Given the description of an element on the screen output the (x, y) to click on. 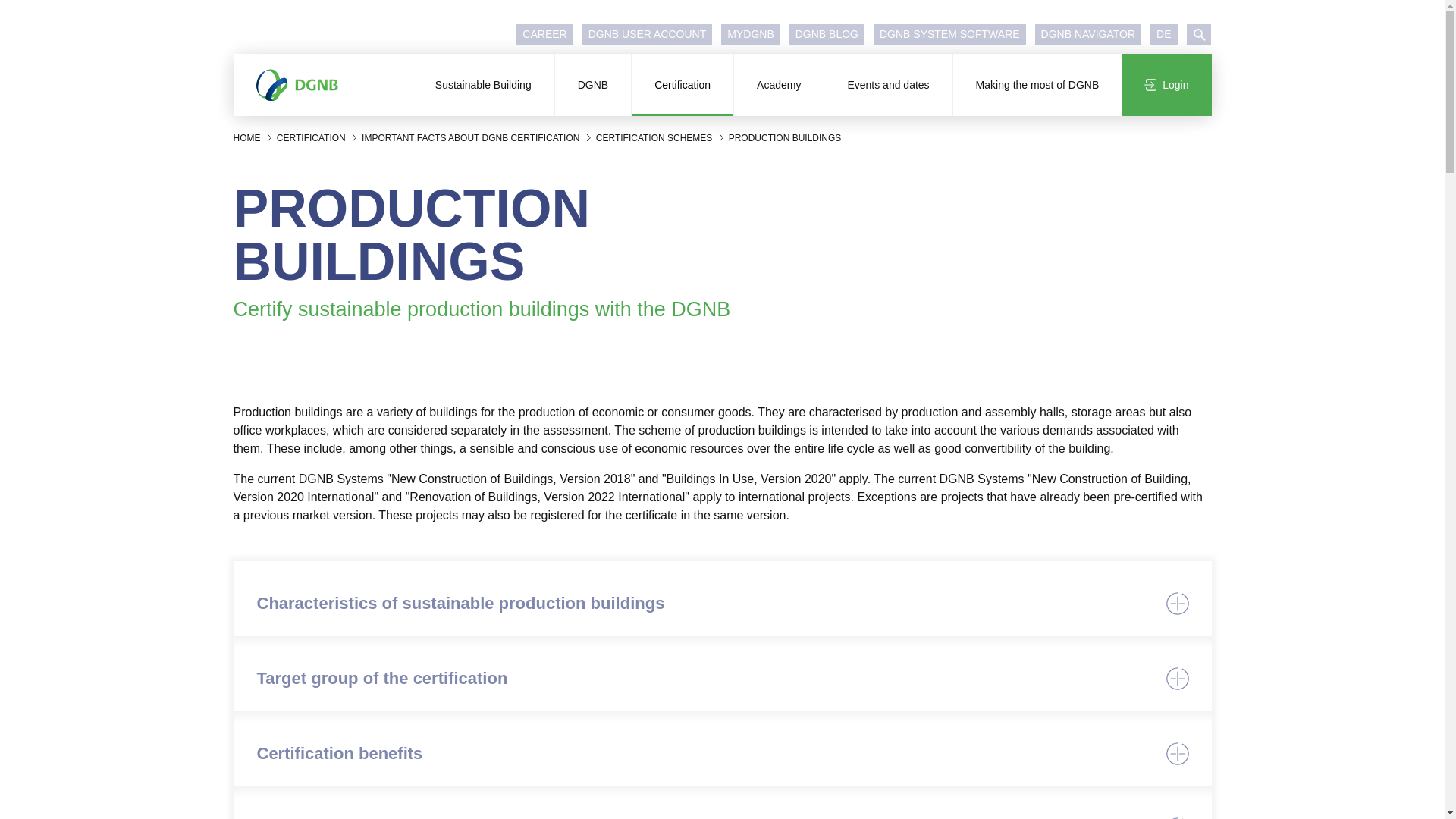
Sustainable Building (483, 85)
Career (544, 34)
DGNB SYSTEM SOFTWARE (949, 34)
DGNB (592, 85)
Deutsch (1163, 34)
DE (1163, 34)
DGNB Navigator (1088, 34)
myDGNB (749, 34)
DGNB System Software (949, 34)
MYDGNB (749, 34)
